Given the description of an element on the screen output the (x, y) to click on. 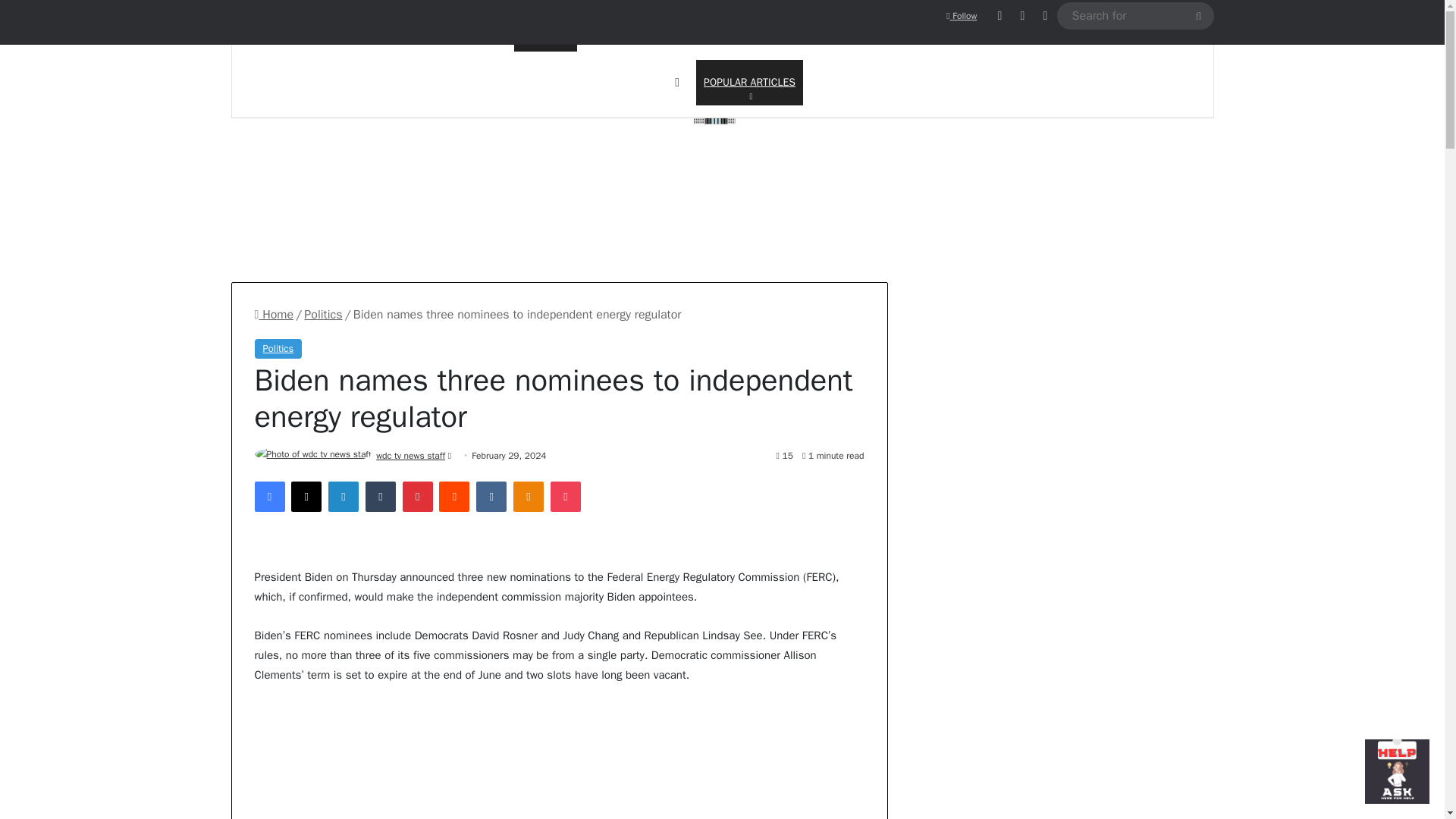
SCIENCE (608, 24)
Search for (749, 82)
Home (1197, 15)
Reddit (274, 314)
WDC TV NEWS (453, 496)
Facebook (721, 104)
Politics (269, 496)
Follow (323, 314)
Advertisement (961, 15)
